Given the description of an element on the screen output the (x, y) to click on. 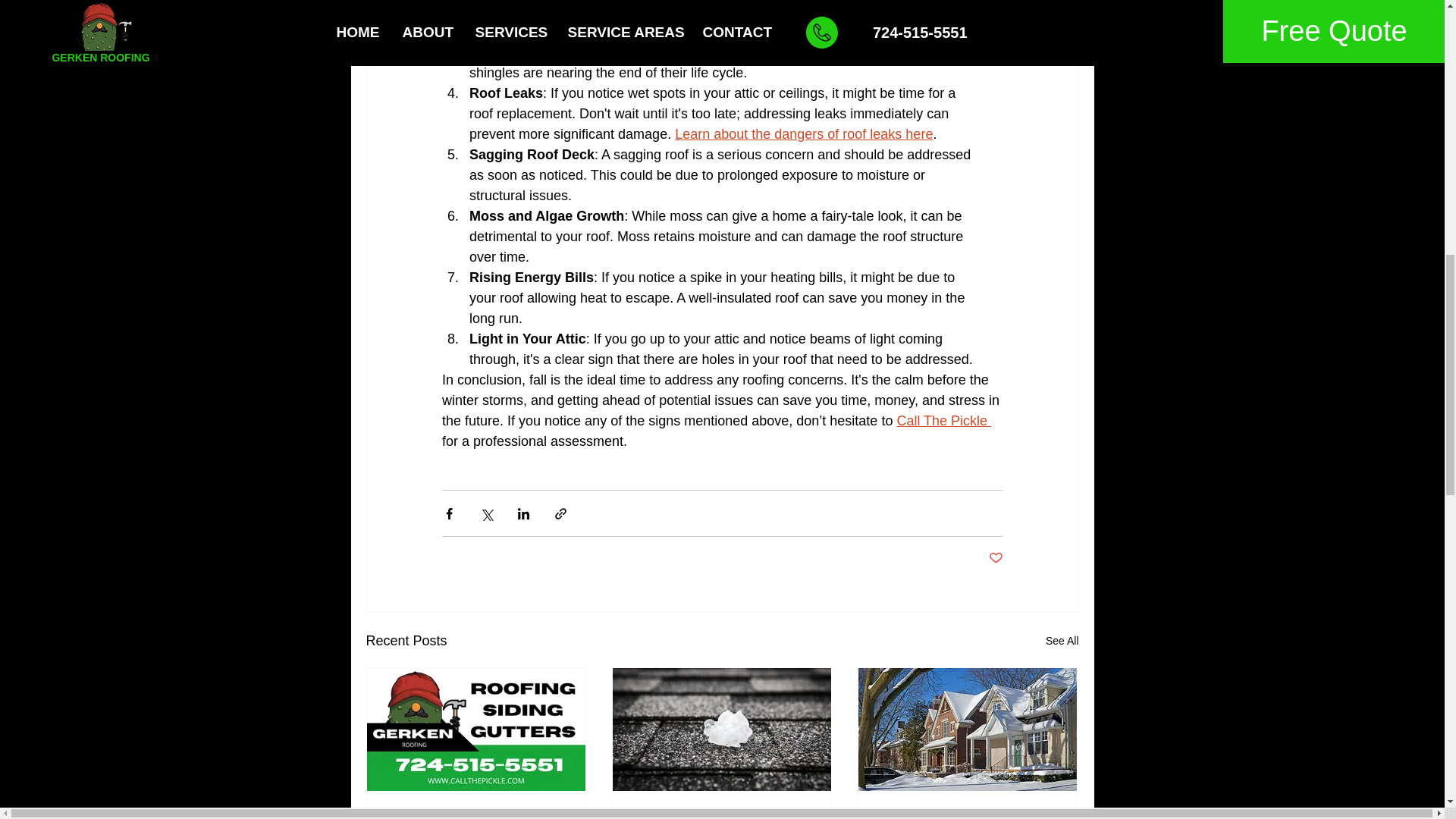
See All (1061, 640)
lifespan of different roofing materials here (593, 31)
Learn about the dangers of roof leaks here (804, 133)
Navigating Roof Damage After a Hail Storm (721, 814)
Call The Pickle  (943, 420)
Post not marked as liked (995, 558)
Winter Roof Maintenance Tips (967, 814)
